Given the description of an element on the screen output the (x, y) to click on. 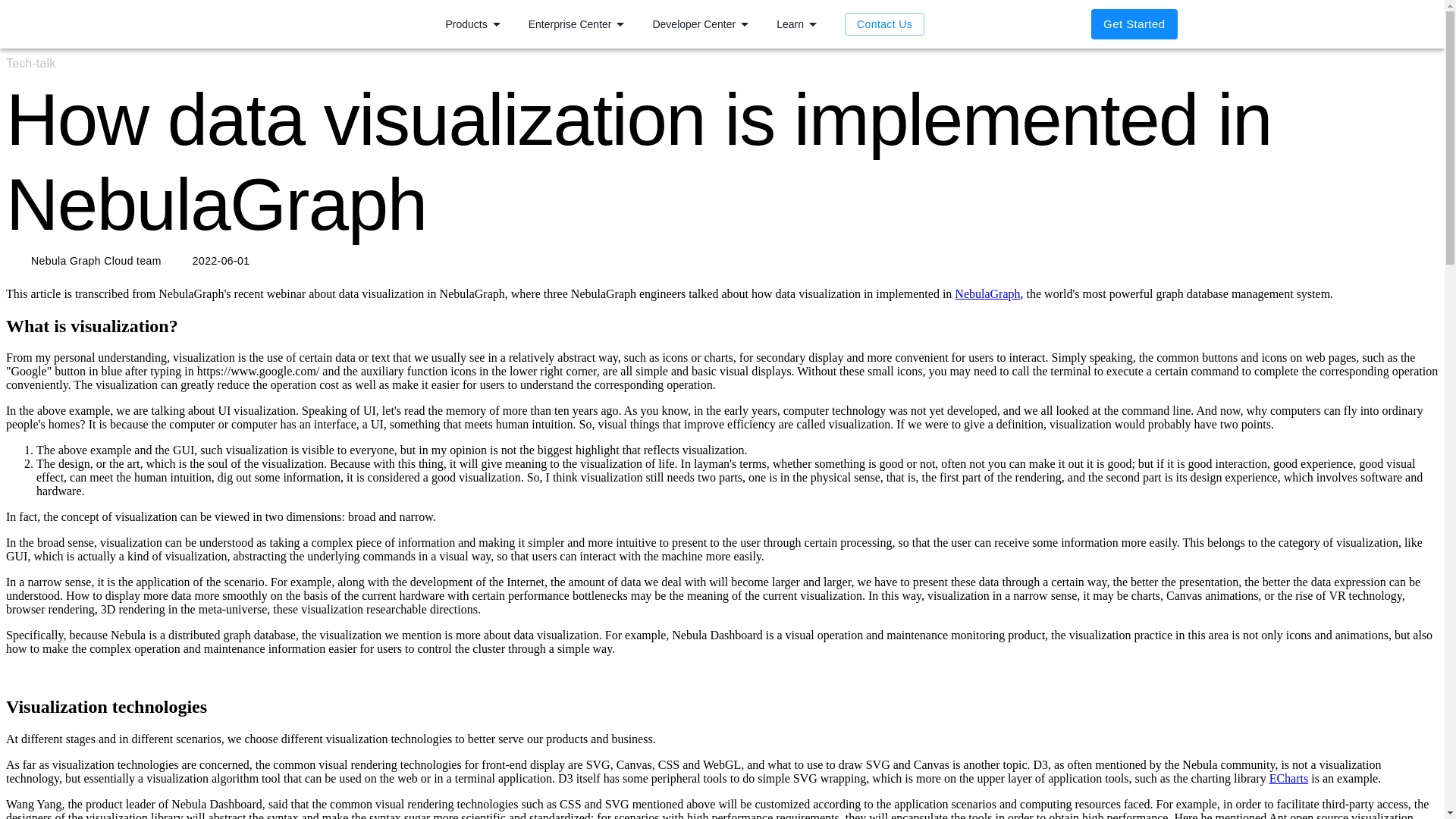
Get Started (1133, 24)
Nebula Graph Cloud team (86, 261)
Contact Us (884, 24)
ECharts (1288, 778)
Products (474, 23)
Enterprise Center (579, 23)
GitHub (992, 23)
NebulaGraph (987, 293)
Learn (798, 23)
Developer Center (702, 23)
2022-06-01 (211, 261)
